Given the description of an element on the screen output the (x, y) to click on. 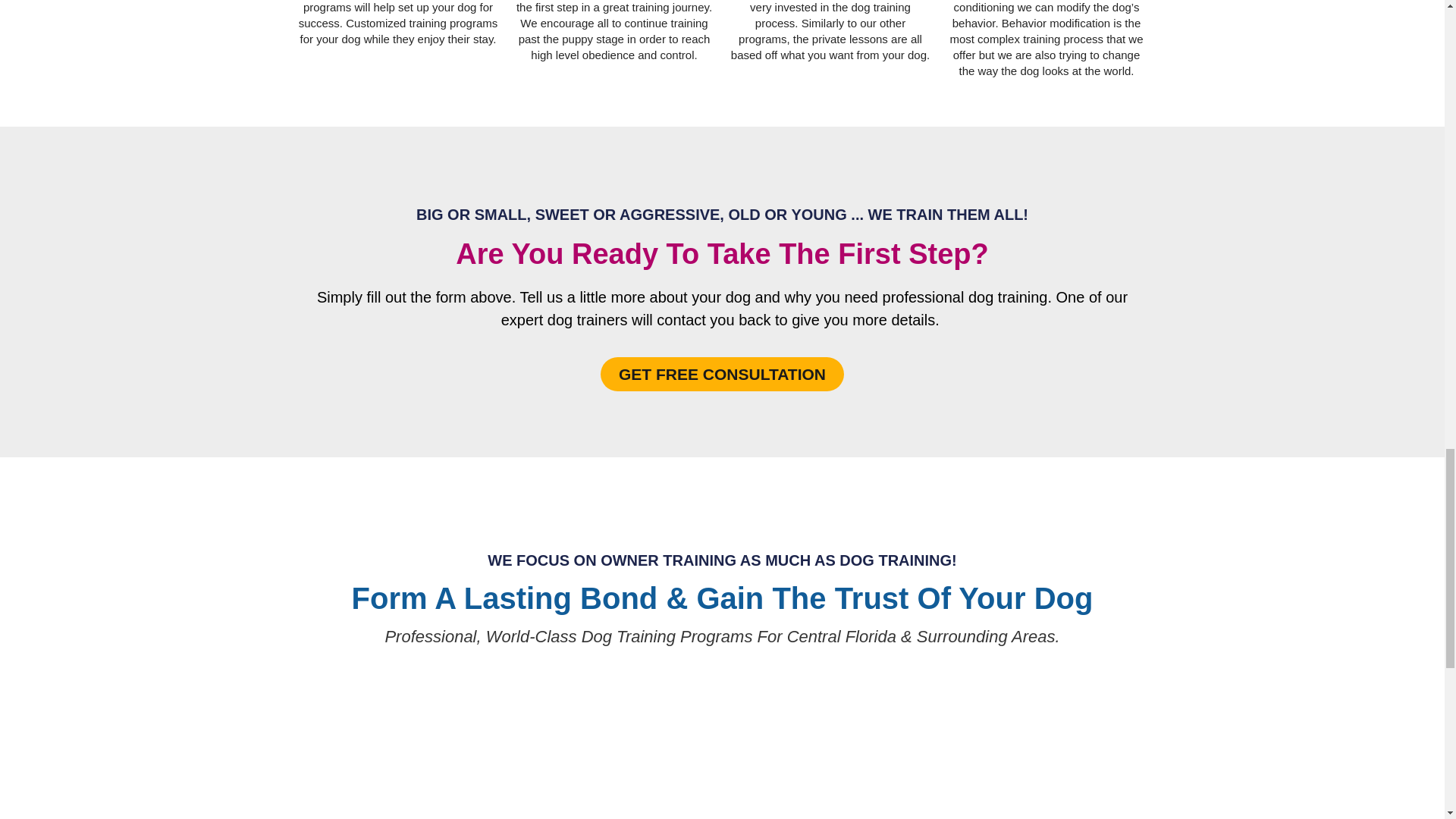
GET FREE CONSULTATION (721, 374)
